Given the description of an element on the screen output the (x, y) to click on. 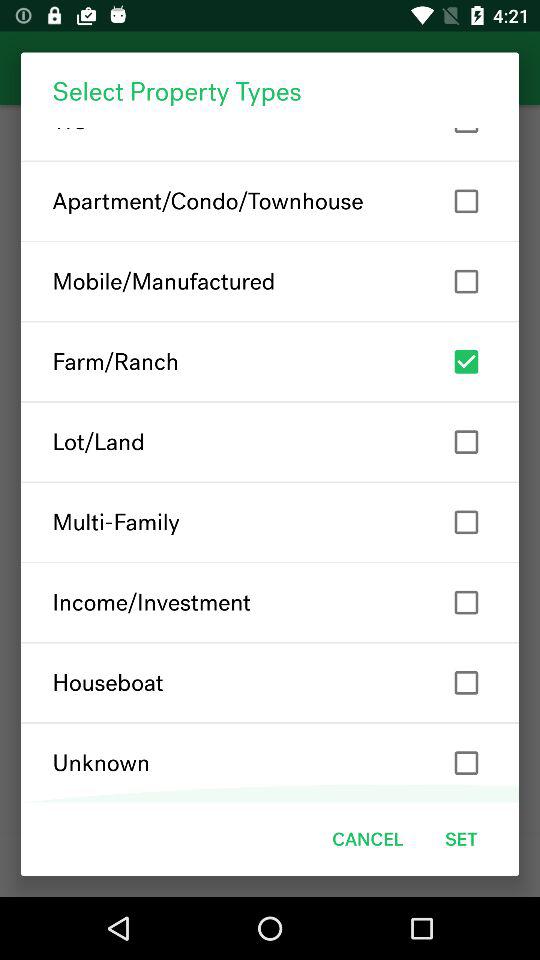
turn off item below the farm/ranch item (270, 441)
